Given the description of an element on the screen output the (x, y) to click on. 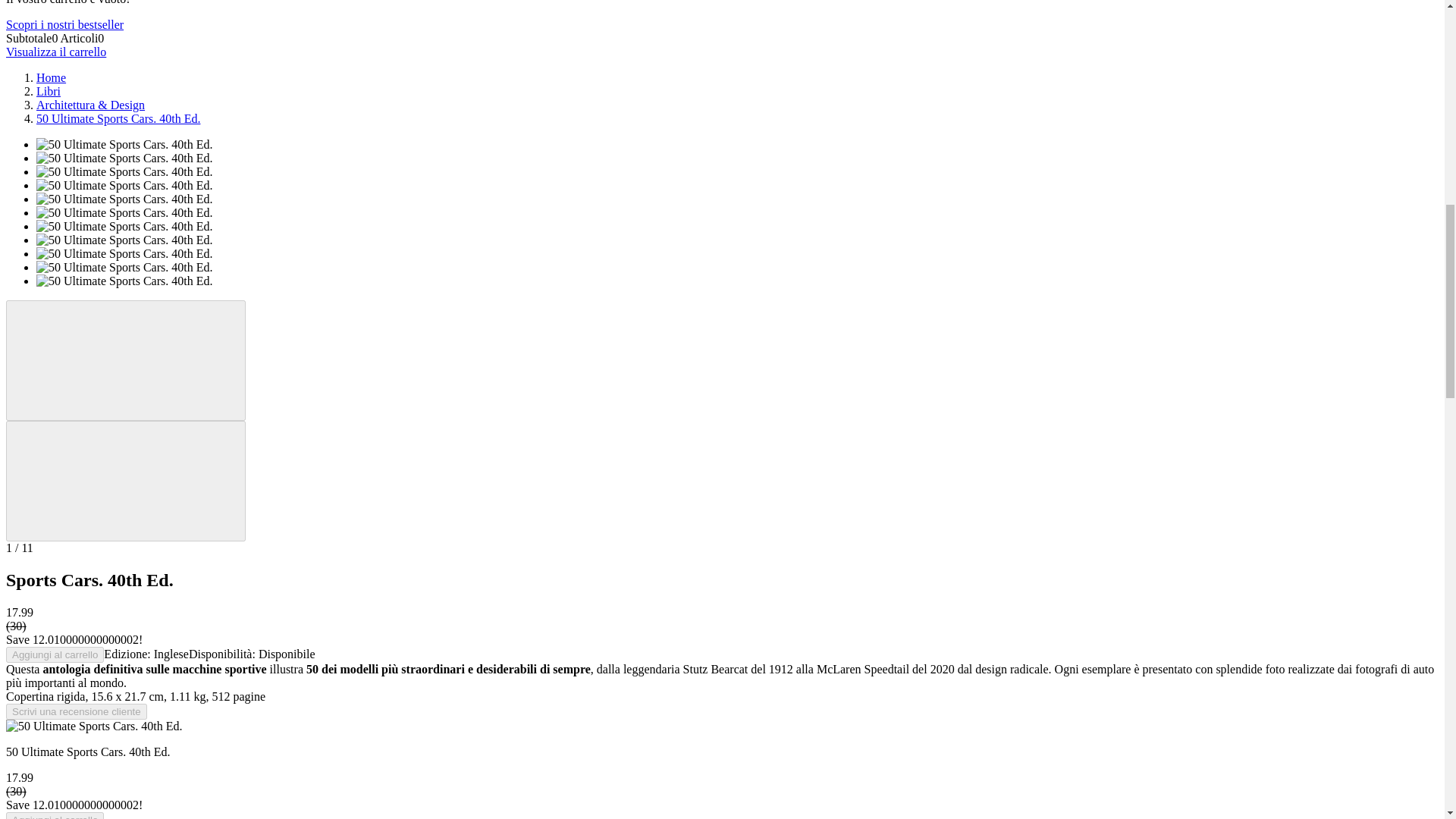
Scopri i nostri bestseller (64, 24)
Scrivi una recensione cliente (76, 711)
Visualizza il carrello (55, 51)
50 Ultimate Sports Cars. 40th Ed. (118, 118)
50 Ultimate Sports Cars. 40th Ed. (118, 118)
Home (50, 77)
Aggiungi al carrello (54, 654)
Aggiungi al carrello (54, 815)
Home (50, 77)
Libri (48, 91)
